Given the description of an element on the screen output the (x, y) to click on. 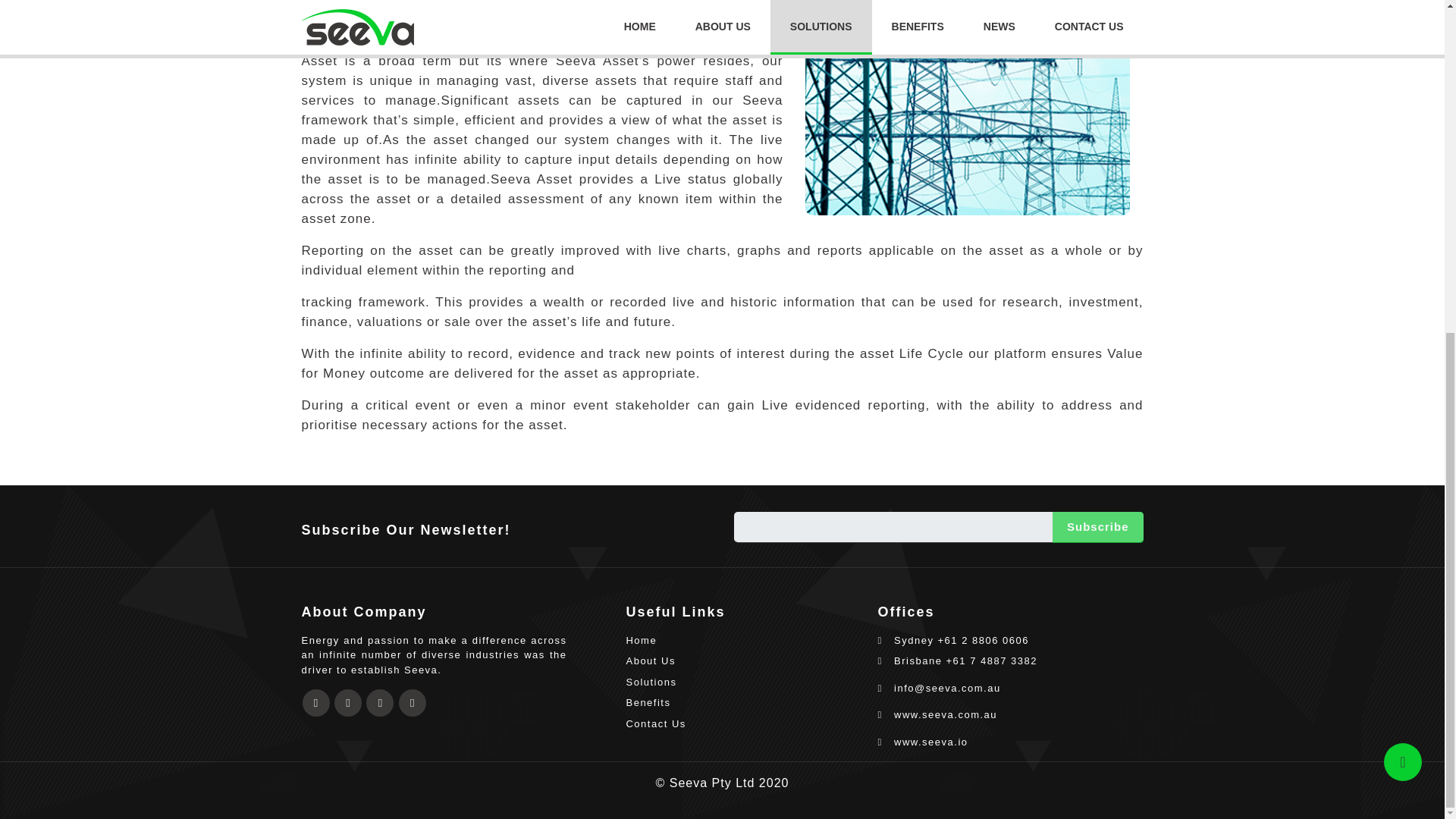
Benefits (740, 702)
Subscribe (1097, 526)
   www.seeva.io (1009, 742)
Home (740, 640)
Contact Us (740, 724)
About Us (740, 661)
   www.seeva.com.au (1009, 714)
Solutions (740, 682)
